Given the description of an element on the screen output the (x, y) to click on. 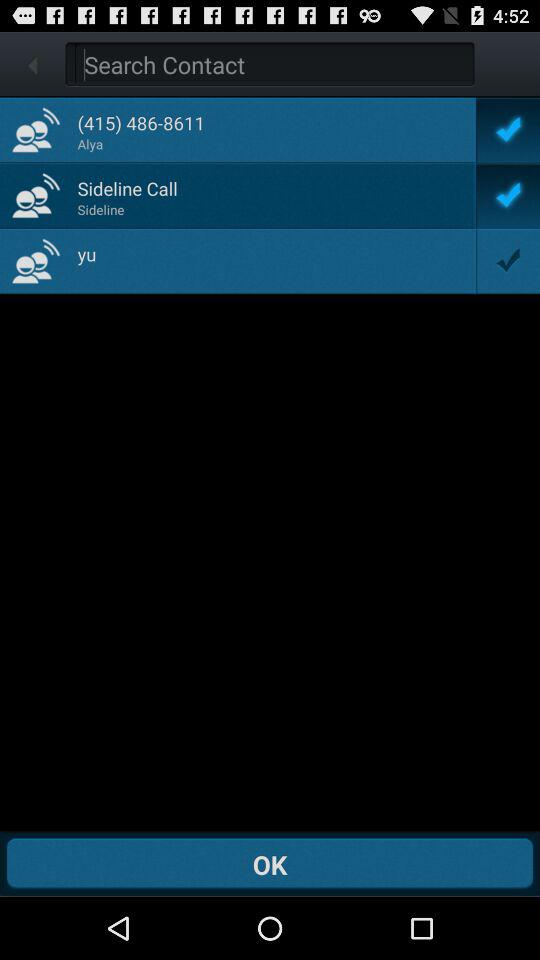
search for a contact (274, 64)
